Given the description of an element on the screen output the (x, y) to click on. 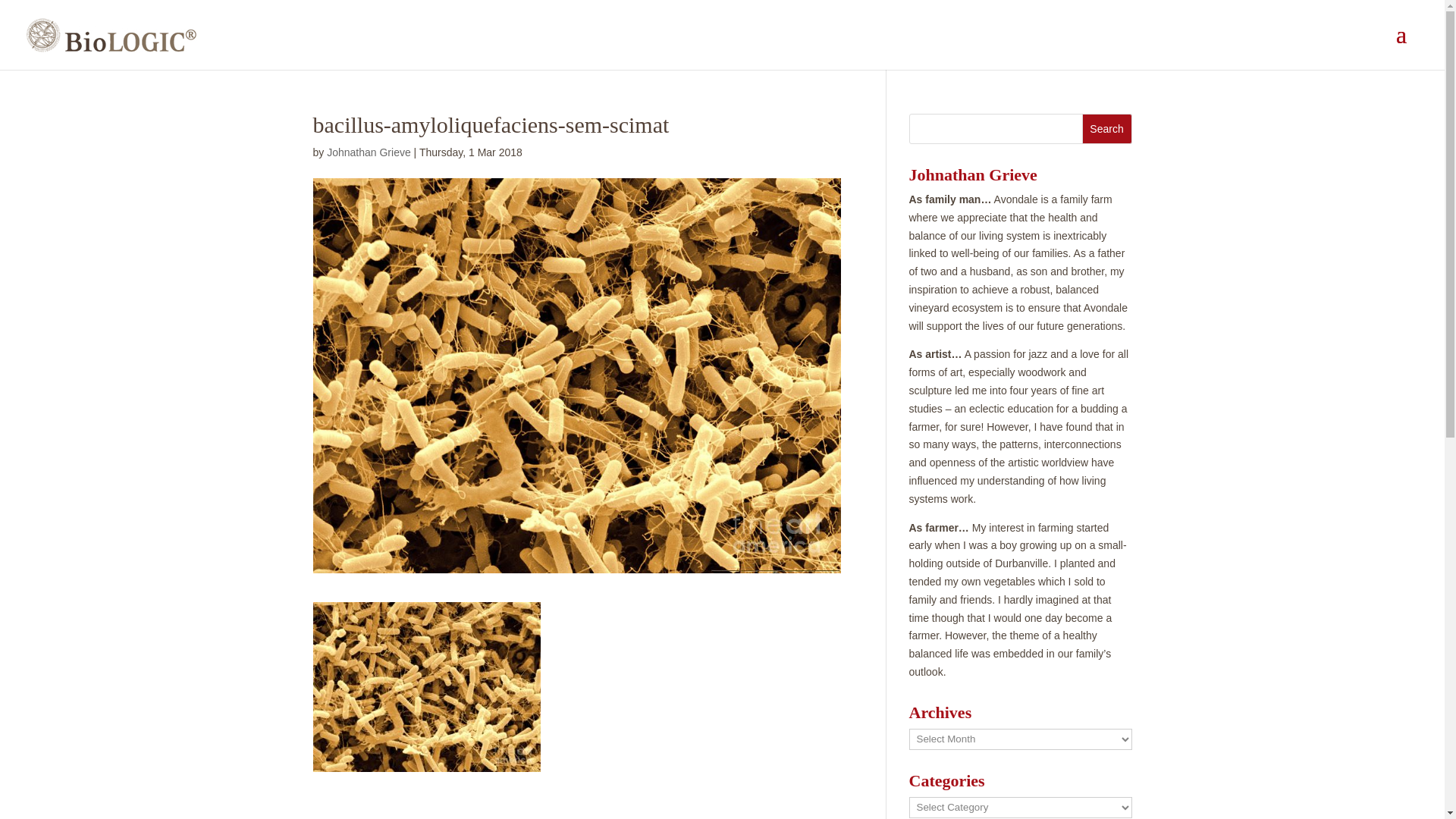
Search (1106, 128)
Search (1106, 128)
Posts by Johnathan Grieve (368, 152)
Johnathan Grieve (368, 152)
